Given the description of an element on the screen output the (x, y) to click on. 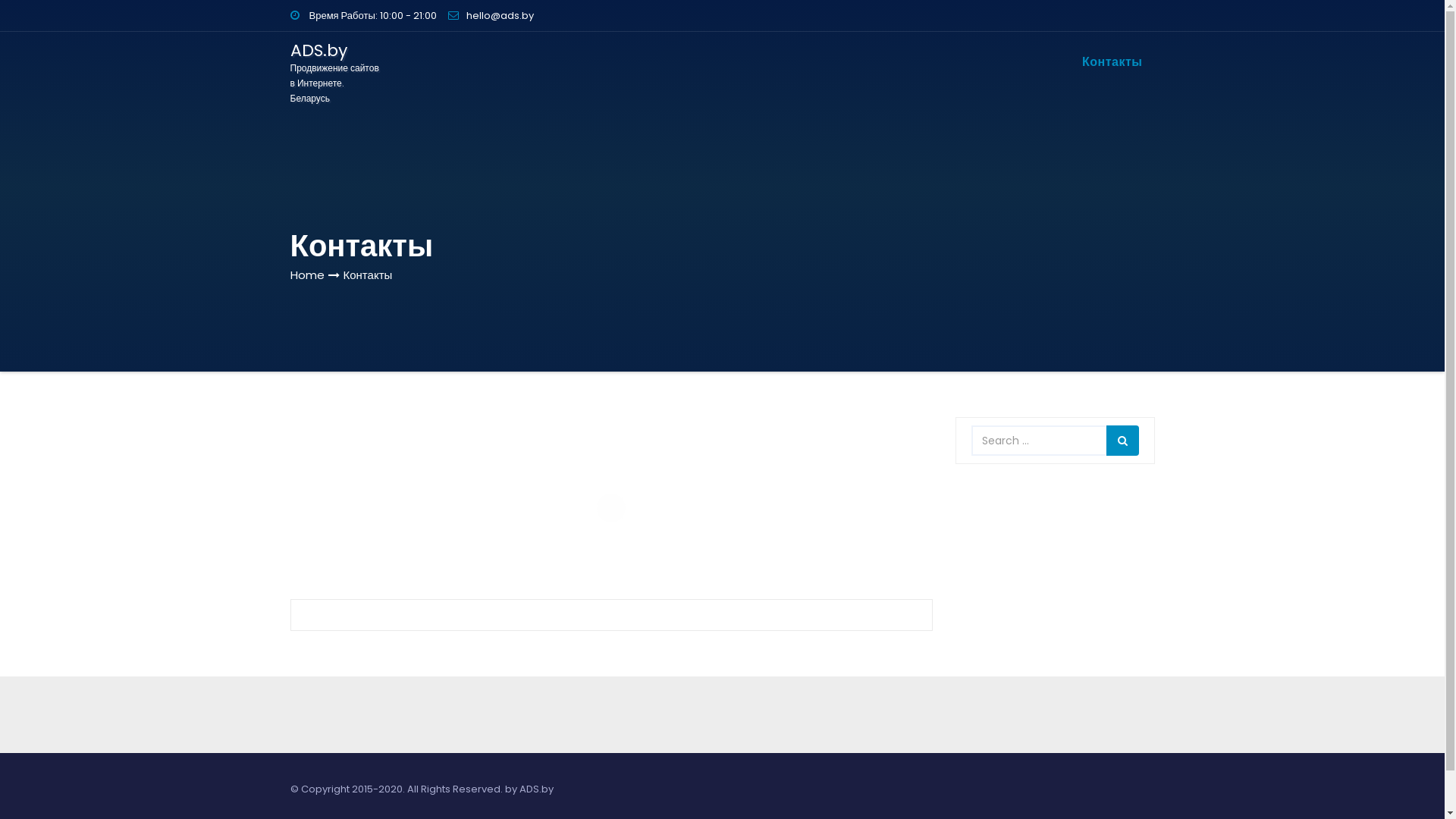
hello@ads.by Element type: text (490, 15)
Home Element type: text (306, 274)
ADS.by Element type: text (535, 788)
